Given the description of an element on the screen output the (x, y) to click on. 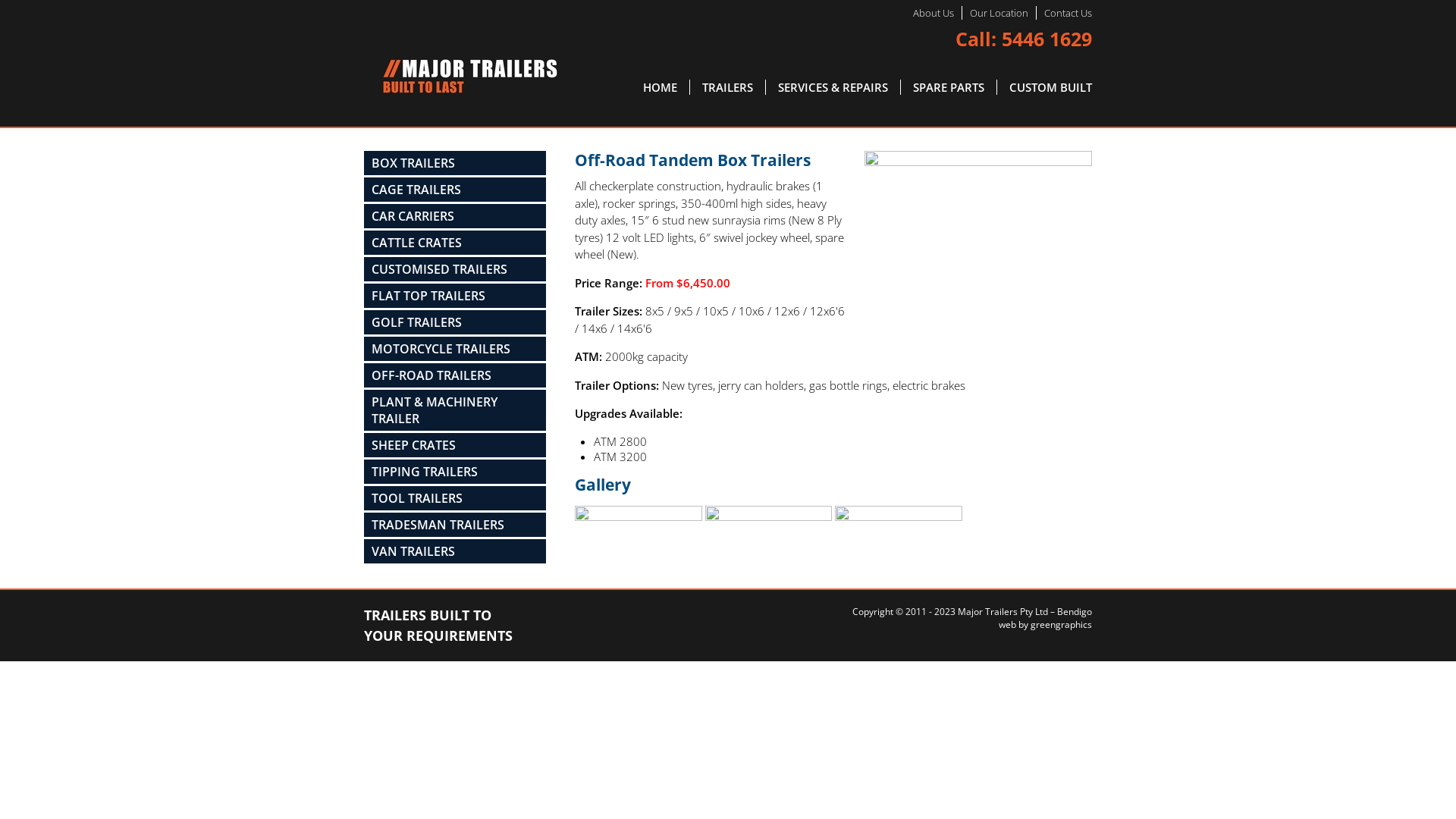
Our Location Element type: text (998, 12)
SERVICES & REPAIRS Element type: text (832, 86)
TOOL TRAILERS Element type: text (455, 498)
OFF-ROAD TRAILERS Element type: text (455, 375)
TIPPING TRAILERS Element type: text (455, 471)
CUSTOM BUILT Element type: text (1044, 86)
SPARE PARTS Element type: text (948, 86)
CATTLE CRATES Element type: text (455, 242)
SHEEP CRATES Element type: text (455, 445)
web by greengraphics Element type: text (1045, 624)
GOLF TRAILERS Element type: text (455, 322)
TRAILERS Element type: text (727, 86)
Call: 5446 1629 Element type: text (1023, 38)
Contact Us Element type: text (1068, 12)
PLANT & MACHINERY TRAILER Element type: text (455, 409)
BOX TRAILERS Element type: text (455, 162)
About Us Element type: text (933, 12)
CAGE TRAILERS Element type: text (455, 189)
TRADESMAN TRAILERS Element type: text (455, 524)
HOME Element type: text (660, 86)
MOTORCYCLE TRAILERS Element type: text (455, 348)
CAR CARRIERS Element type: text (455, 215)
VAN TRAILERS Element type: text (455, 551)
CUSTOMISED TRAILERS Element type: text (455, 269)
FLAT TOP TRAILERS Element type: text (455, 295)
